Given the description of an element on the screen output the (x, y) to click on. 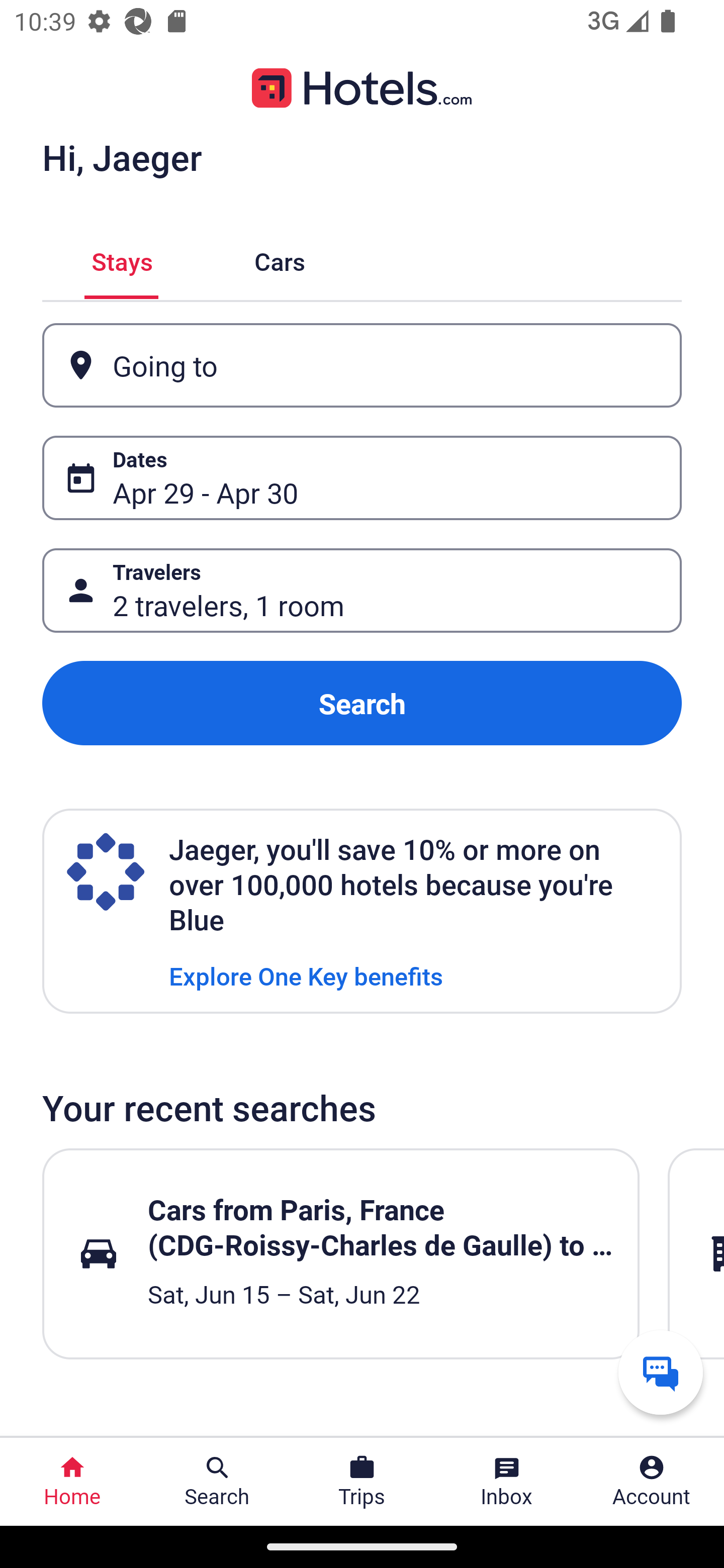
Hi, Jaeger (121, 156)
Cars (279, 259)
Going to Button (361, 365)
Dates Button Apr 29 - Apr 30 (361, 477)
Travelers Button 2 travelers, 1 room (361, 590)
Search (361, 702)
Get help from a virtual agent (660, 1371)
Search Search Button (216, 1481)
Trips Trips Button (361, 1481)
Inbox Inbox Button (506, 1481)
Account Profile. Button (651, 1481)
